Given the description of an element on the screen output the (x, y) to click on. 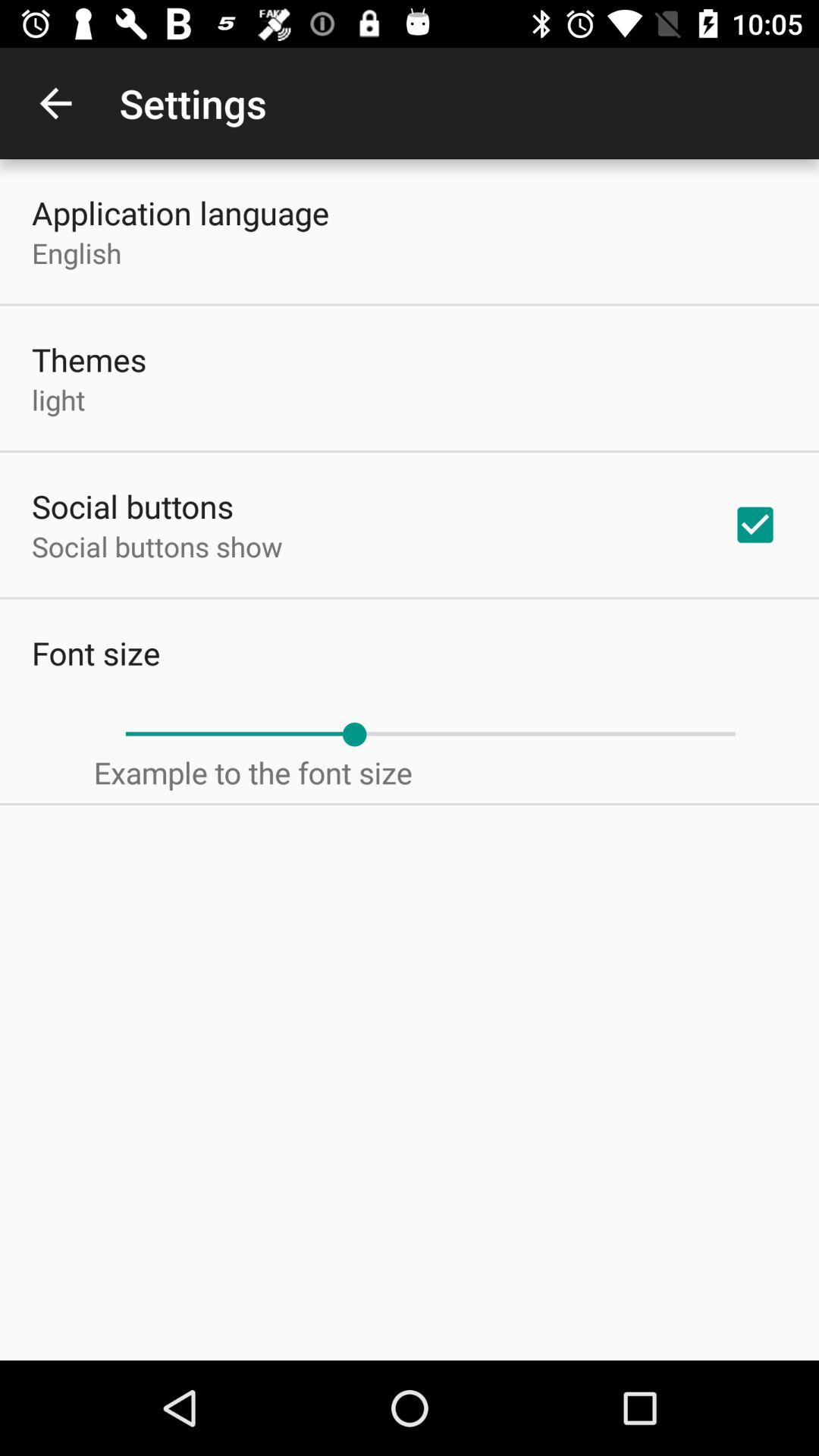
open the example to the item (252, 772)
